Given the description of an element on the screen output the (x, y) to click on. 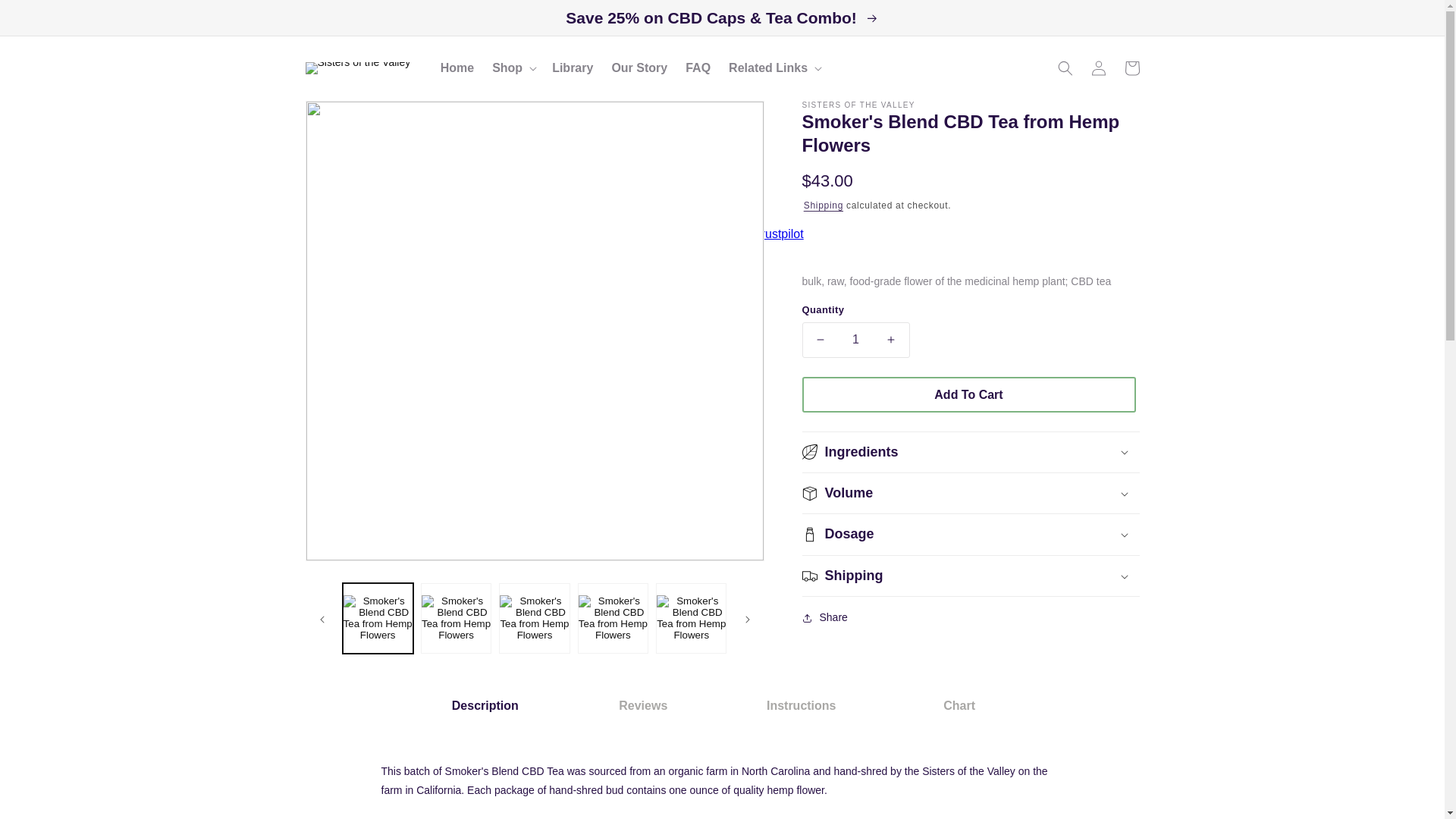
Shop (507, 67)
1 (855, 339)
Skip to content (45, 53)
Home (456, 68)
